Given the description of an element on the screen output the (x, y) to click on. 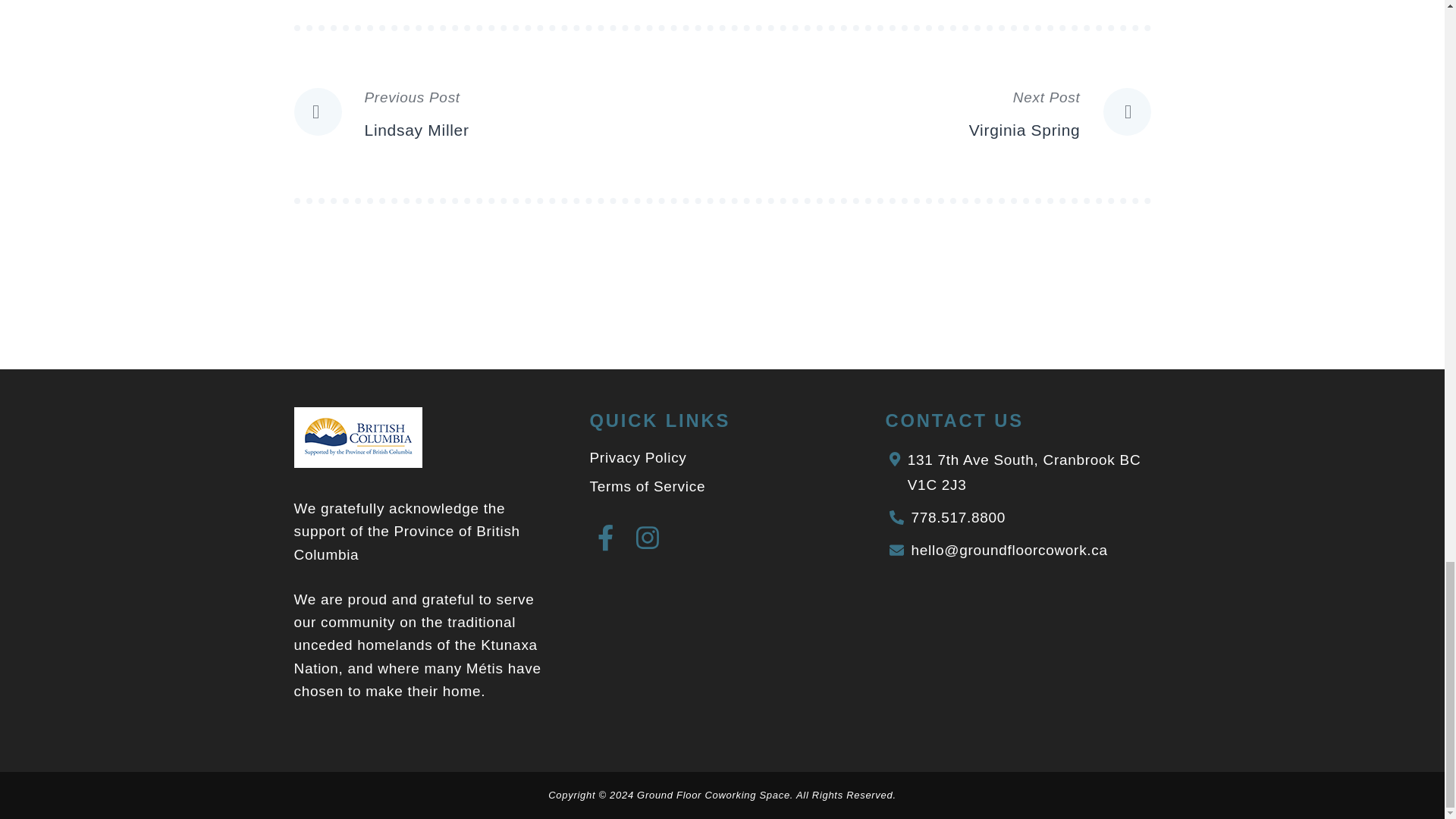
Terms of Service (508, 113)
Privacy Policy (647, 486)
